Given the description of an element on the screen output the (x, y) to click on. 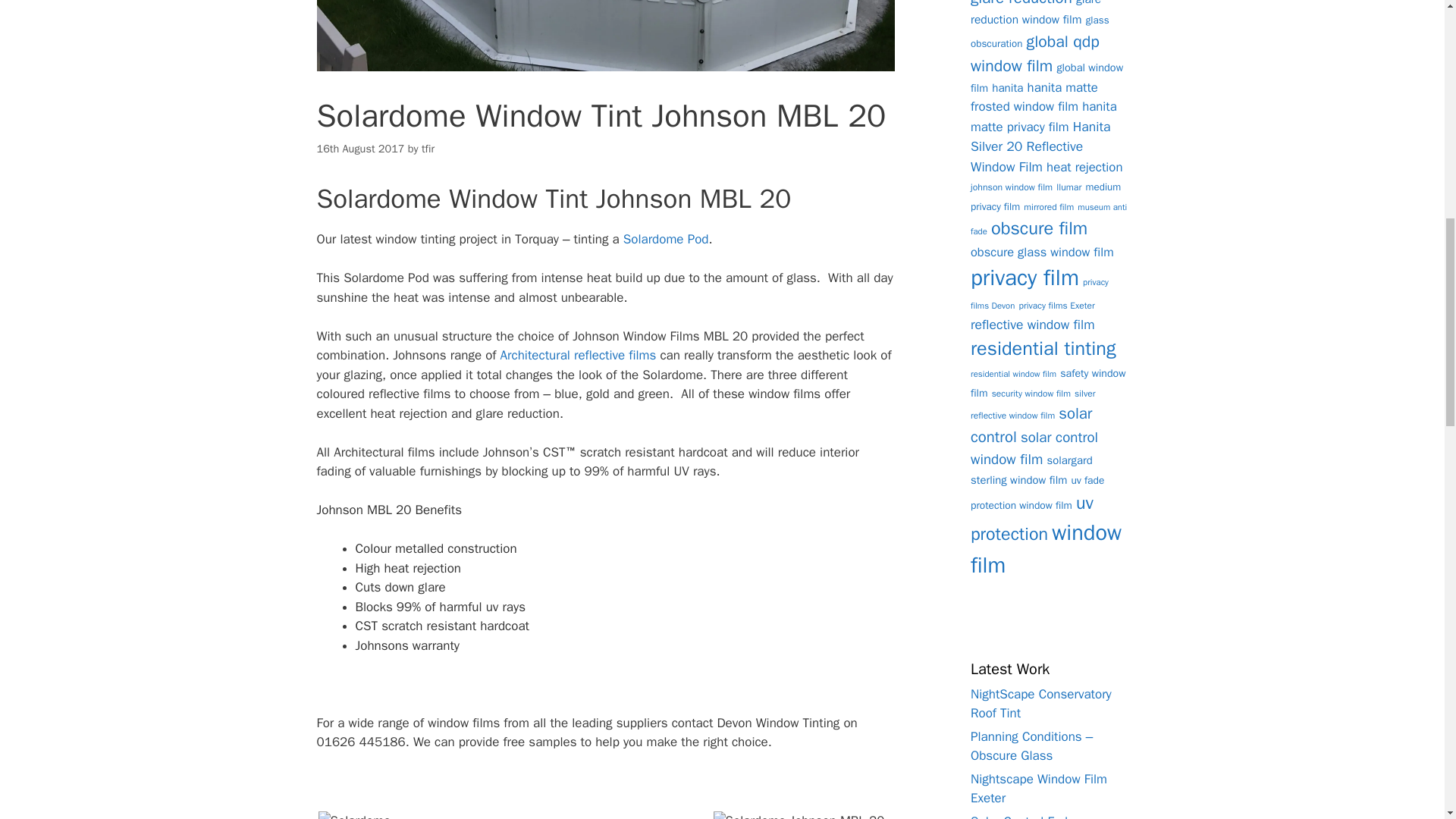
Solardome Johnson MBL 20 (798, 815)
View all posts by tfir (427, 148)
Solardome (354, 815)
